Given the description of an element on the screen output the (x, y) to click on. 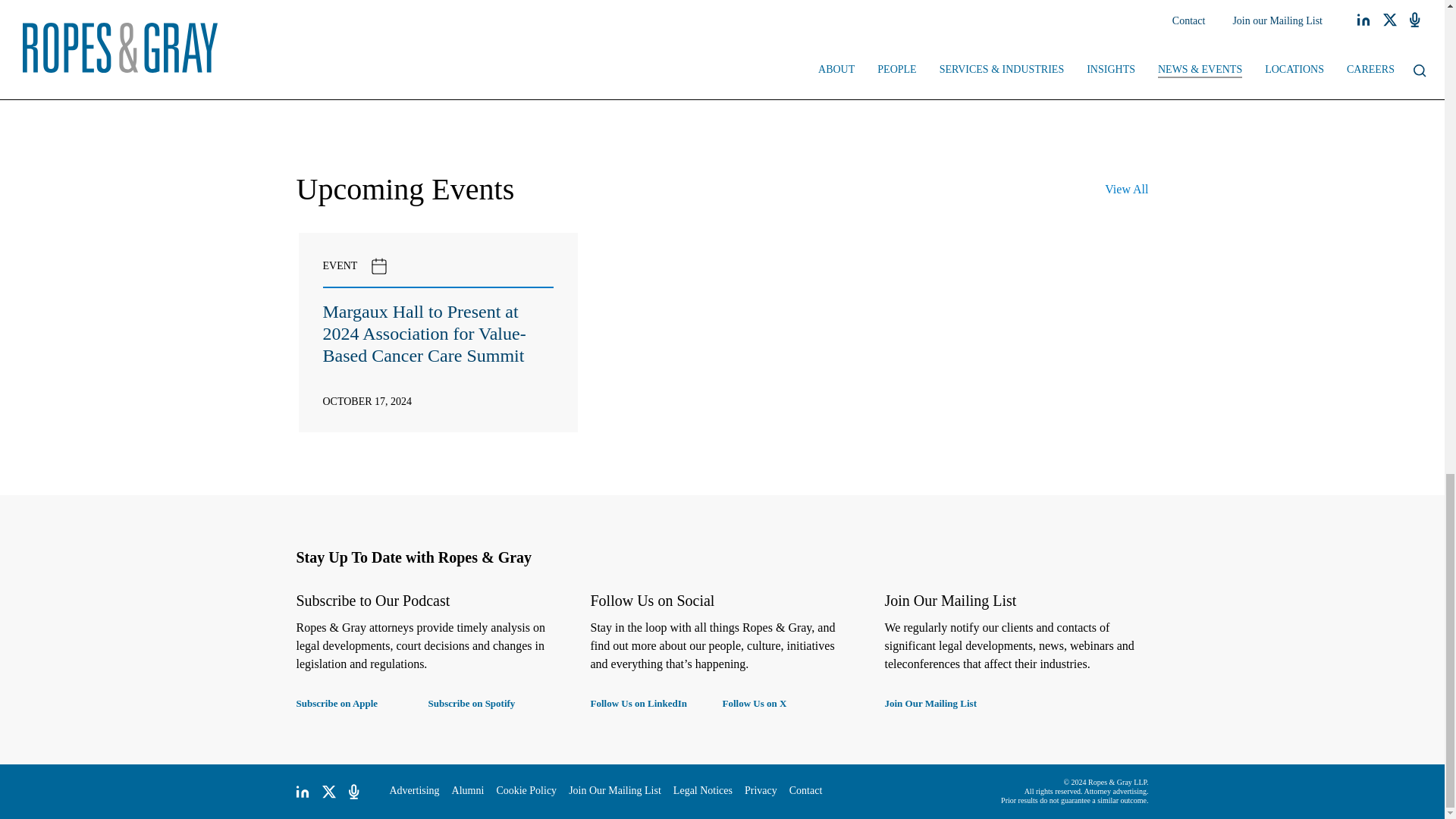
x (328, 791)
See Bio (480, 65)
linkedin (301, 791)
